Given the description of an element on the screen output the (x, y) to click on. 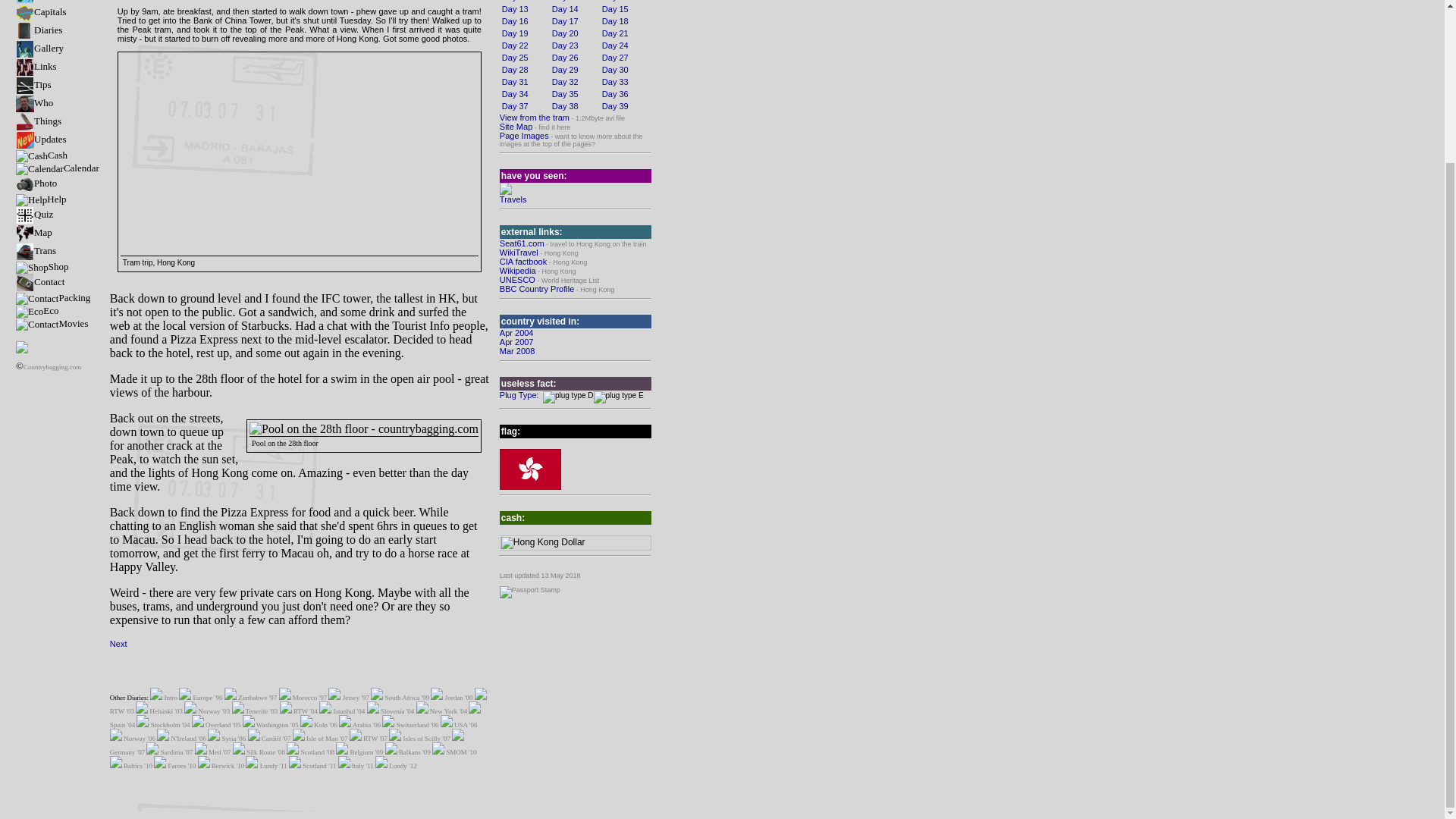
Packing (53, 297)
Cash (41, 154)
Shop (42, 266)
Tips (33, 84)
RTW '03 (121, 710)
Helsinki '03 (165, 710)
Photo (36, 183)
South Africa '99 (405, 697)
Next (119, 643)
Morocco '97 (309, 697)
